Given the description of an element on the screen output the (x, y) to click on. 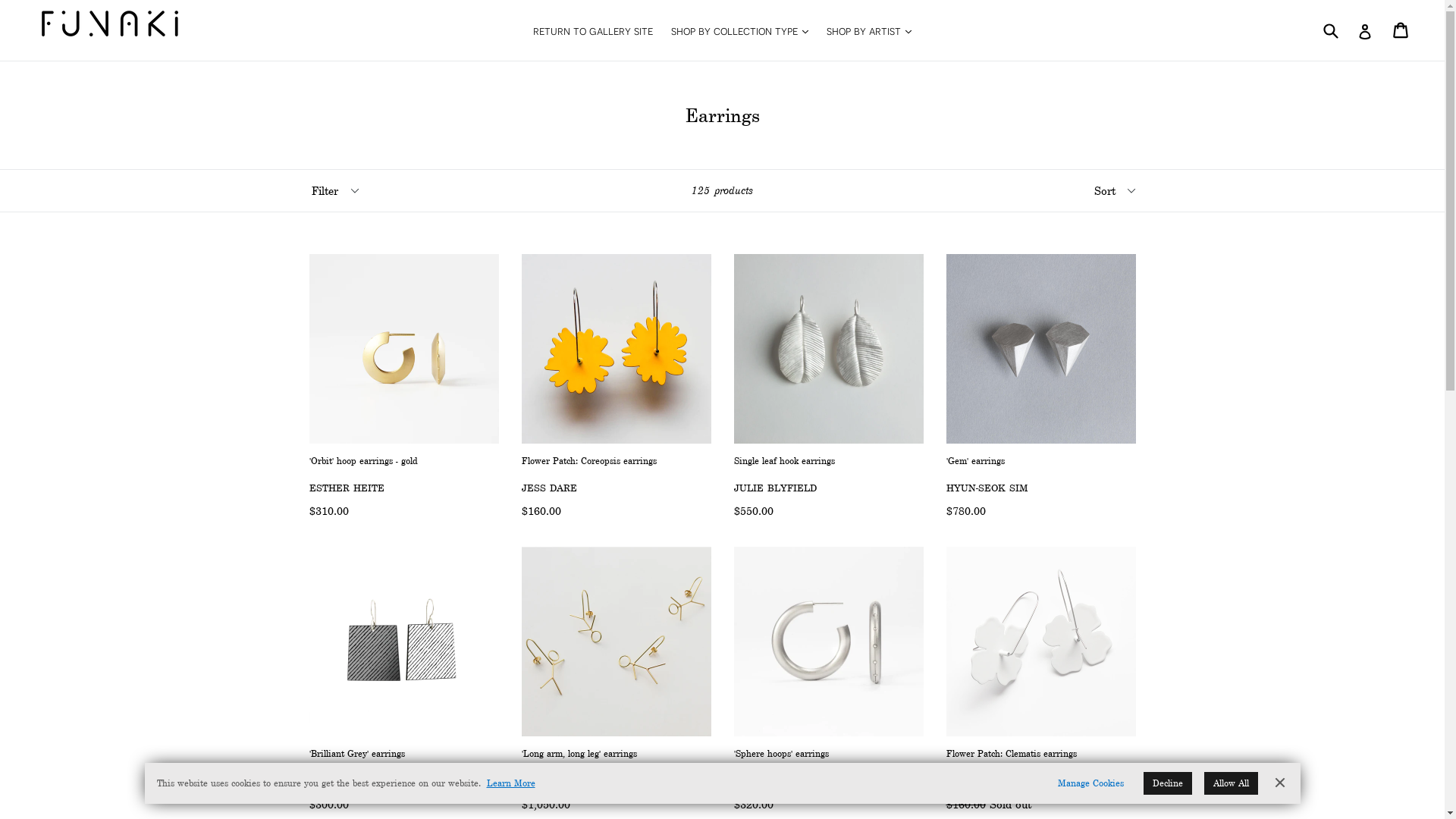
Flower Patch: Clematis earrings
JESS DARE
$160.00 Sold out Element type: text (1040, 679)
Log in Element type: text (1364, 30)
Manage Cookies Element type: text (1090, 782)
Cart
Cart Element type: text (1401, 29)
return to gallery site Element type: text (592, 29)
'Gem' earrings
HYUN-SEOK SIM
Regular price
$780.00 Element type: text (1040, 387)
'Sphere hoops' earrings
ESTHER HEITE
Regular price
$320.00 Element type: text (828, 679)
Flower Patch: Coreopsis earrings
JESS DARE
$160.00 Element type: text (616, 387)
Close Element type: text (1278, 782)
Decline Element type: text (1167, 782)
Allow All Element type: text (1231, 782)
Submit Element type: text (1329, 29)
Learn More Element type: text (510, 782)
